Given the description of an element on the screen output the (x, y) to click on. 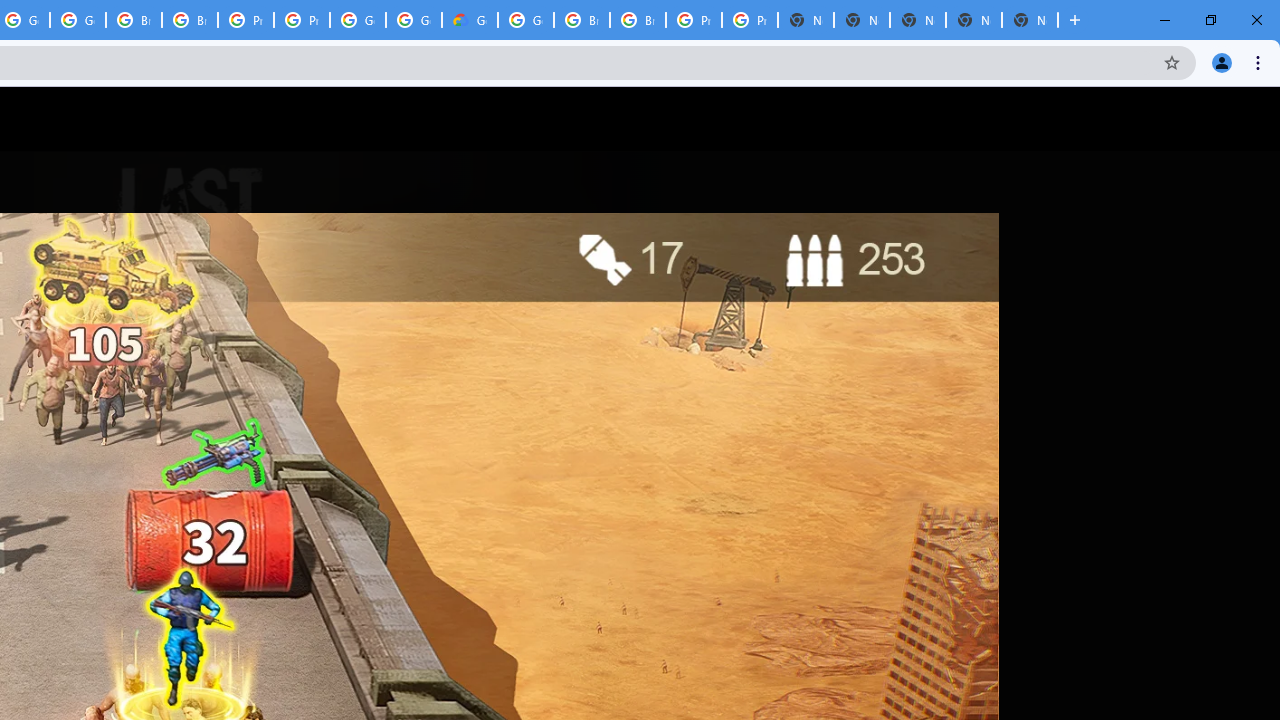
Open account menu (1245, 119)
Google Cloud Estimate Summary (469, 20)
Google Cloud Platform (413, 20)
